Given the description of an element on the screen output the (x, y) to click on. 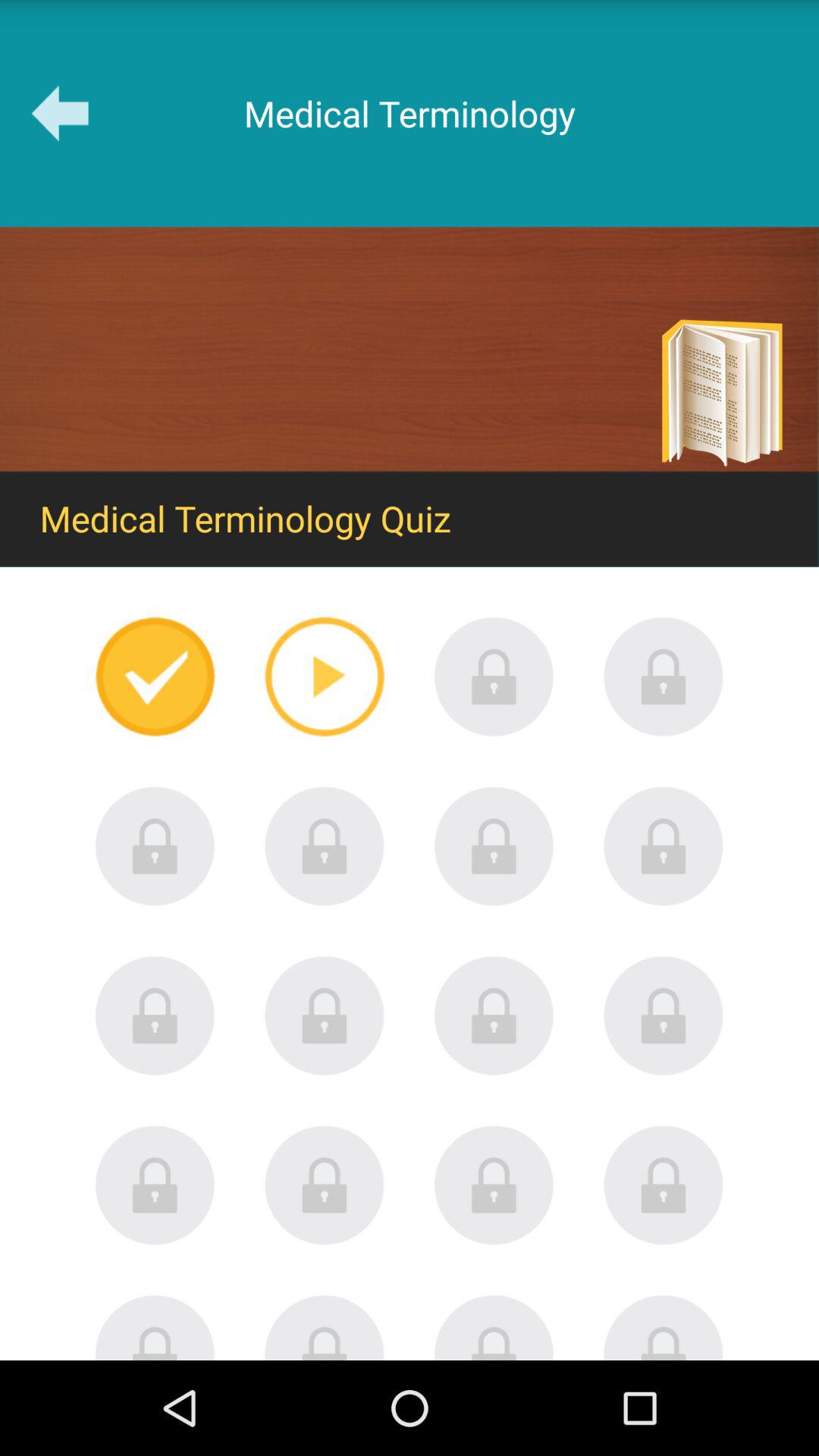
locked (154, 1184)
